Given the description of an element on the screen output the (x, y) to click on. 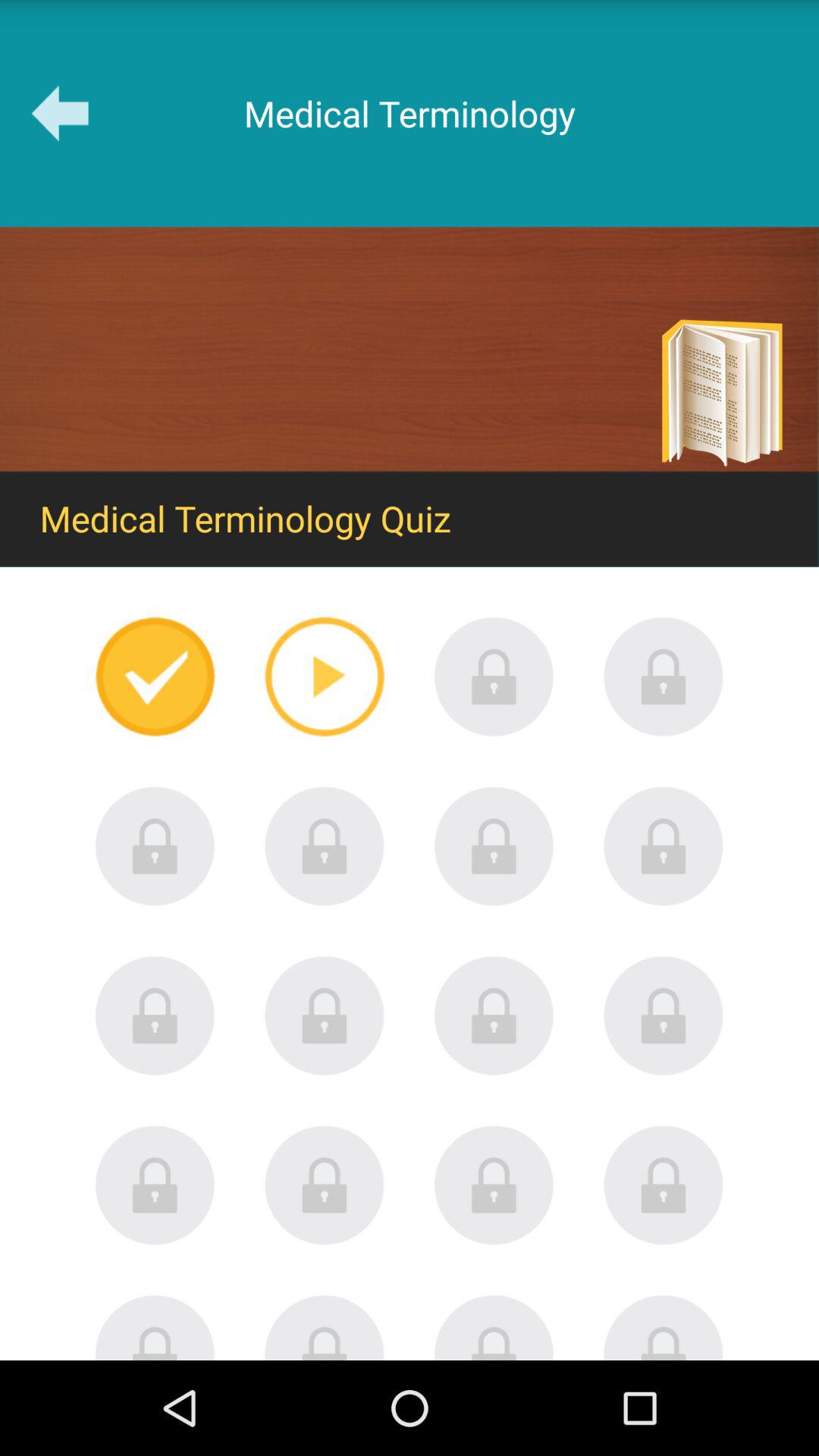
locked (154, 1184)
